Given the description of an element on the screen output the (x, y) to click on. 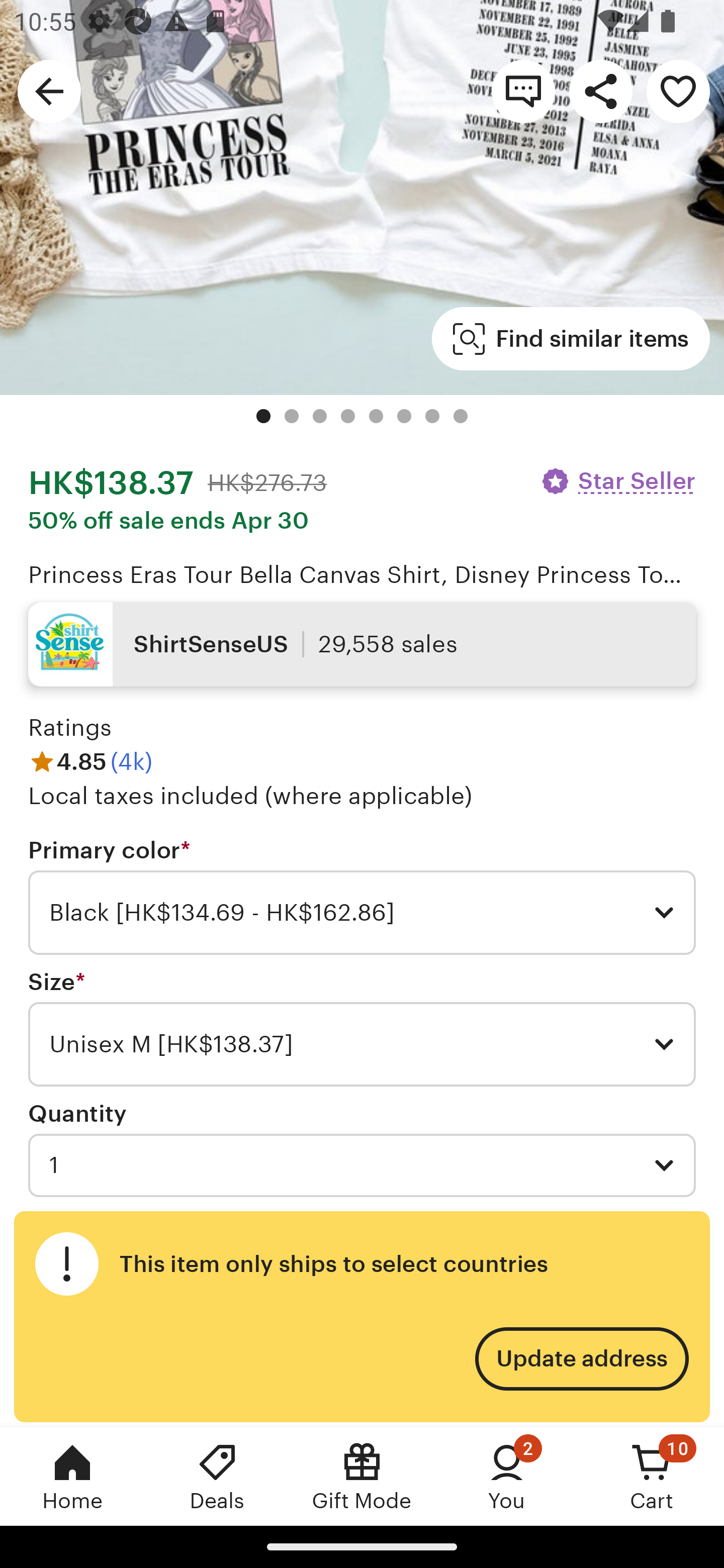
Navigate up (49, 90)
Contact shop (523, 90)
Share (600, 90)
Find similar items (571, 338)
Star Seller (617, 481)
ShirtSenseUS 29,558 sales (361, 644)
Ratings (70, 727)
4.85 (4k) (90, 761)
Black [HK$134.69 - HK$162.86] (361, 912)
Size * Required Unisex M [HK$138.37] (361, 1027)
Unisex M [HK$138.37] (361, 1043)
Quantity (77, 1113)
1 (361, 1164)
Update address (581, 1359)
Deals (216, 1475)
Gift Mode (361, 1475)
You, 2 new notifications You (506, 1475)
Cart, 10 new notifications Cart (651, 1475)
